Given the description of an element on the screen output the (x, y) to click on. 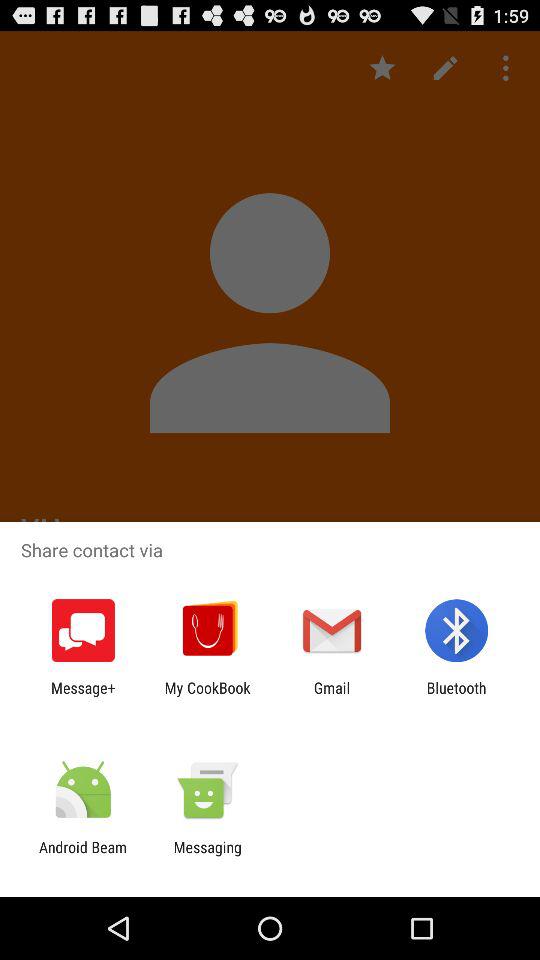
open the icon to the left of gmail icon (207, 696)
